Given the description of an element on the screen output the (x, y) to click on. 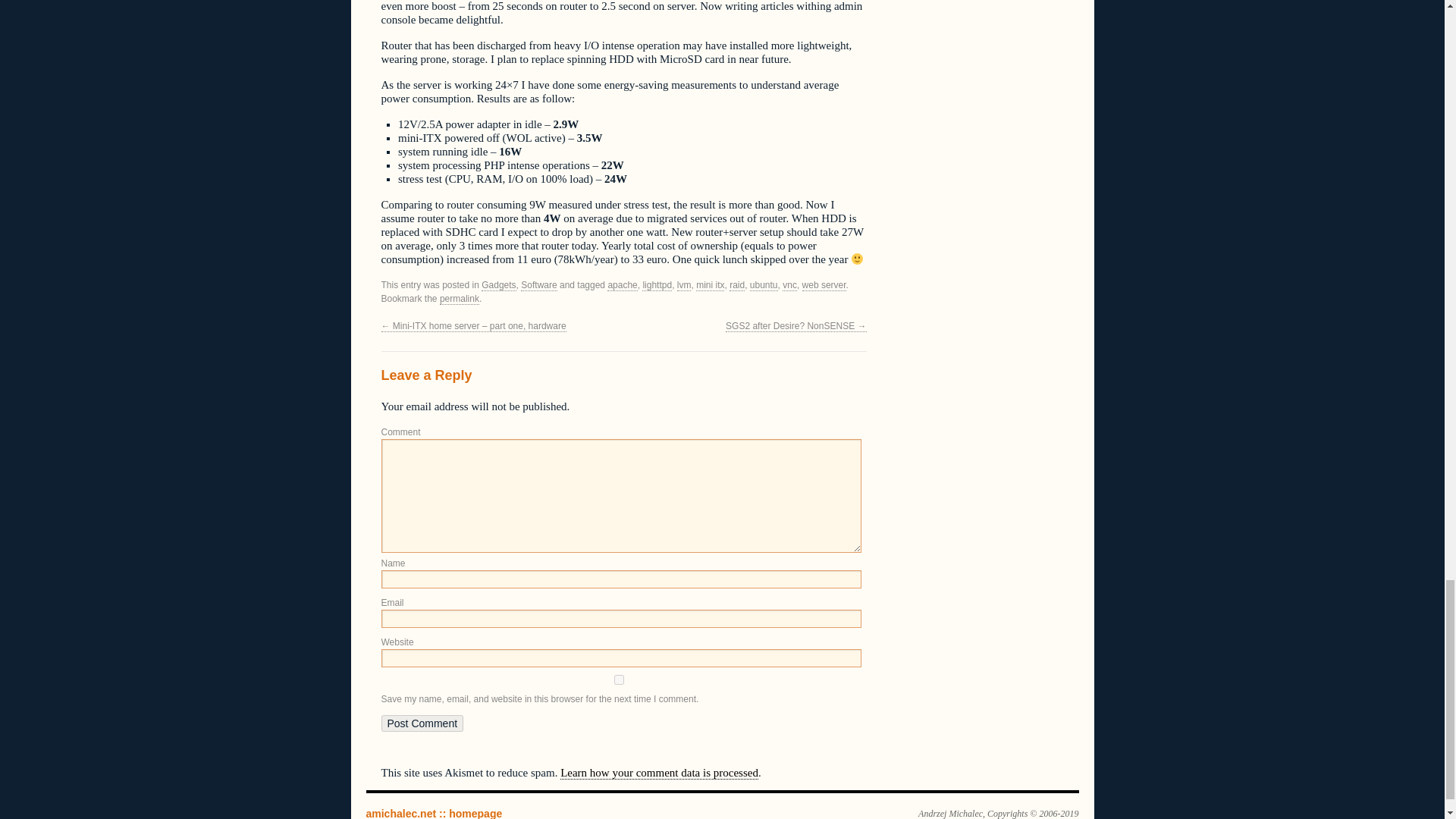
permalink (459, 298)
Post Comment (421, 723)
raid (736, 285)
lvm (684, 285)
yes (618, 679)
Post Comment (421, 723)
lighttpd (656, 285)
mini itx (709, 285)
Gadgets (498, 285)
apache (622, 285)
